Given the description of an element on the screen output the (x, y) to click on. 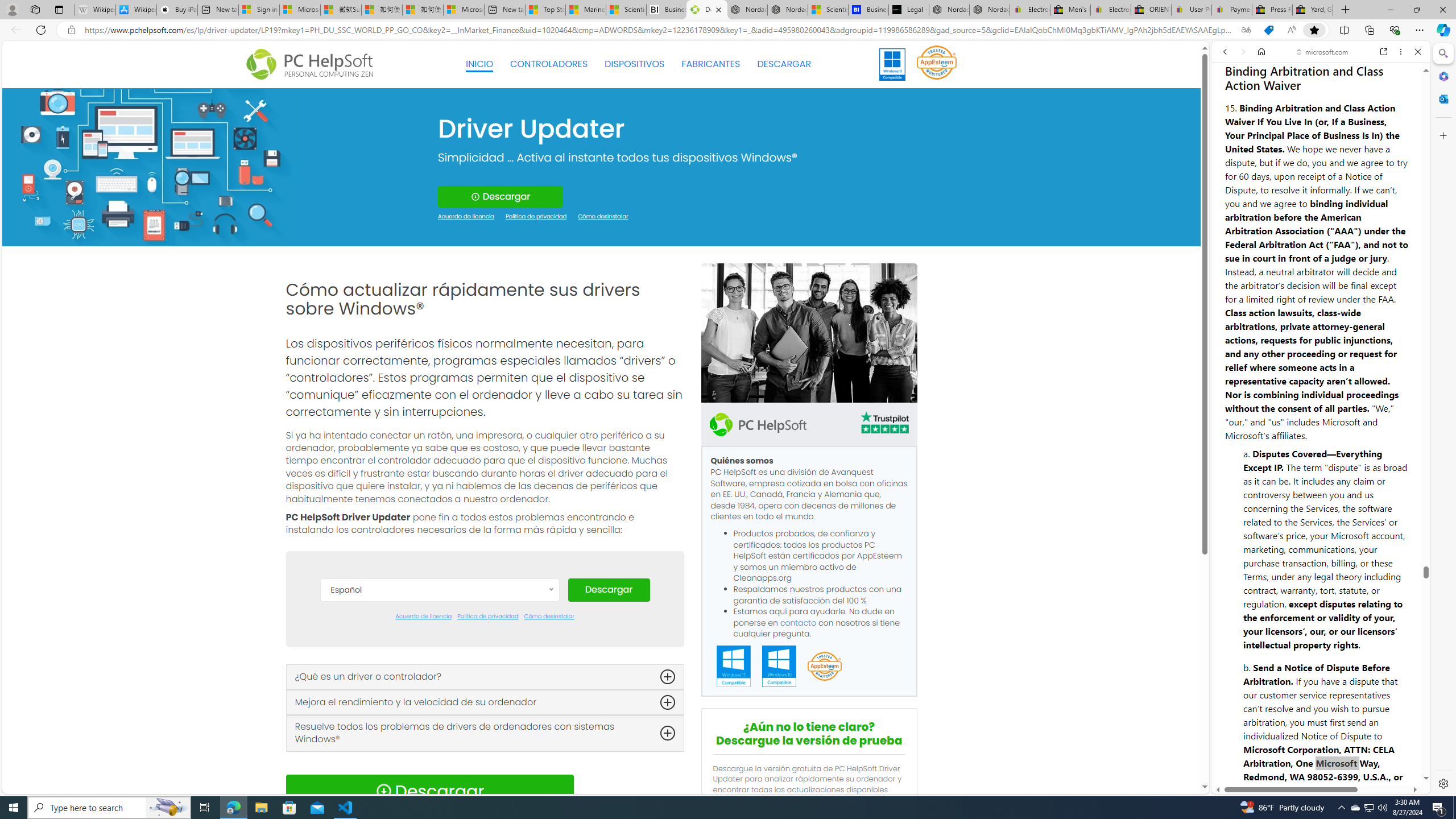
Open in New Tab (1321, 768)
CONTROLADORES (548, 64)
team (808, 332)
Download Icon (383, 791)
DISPOSITIVOS (634, 64)
Press Room - eBay Inc. (1272, 9)
DESCARGAR (783, 64)
